Given the description of an element on the screen output the (x, y) to click on. 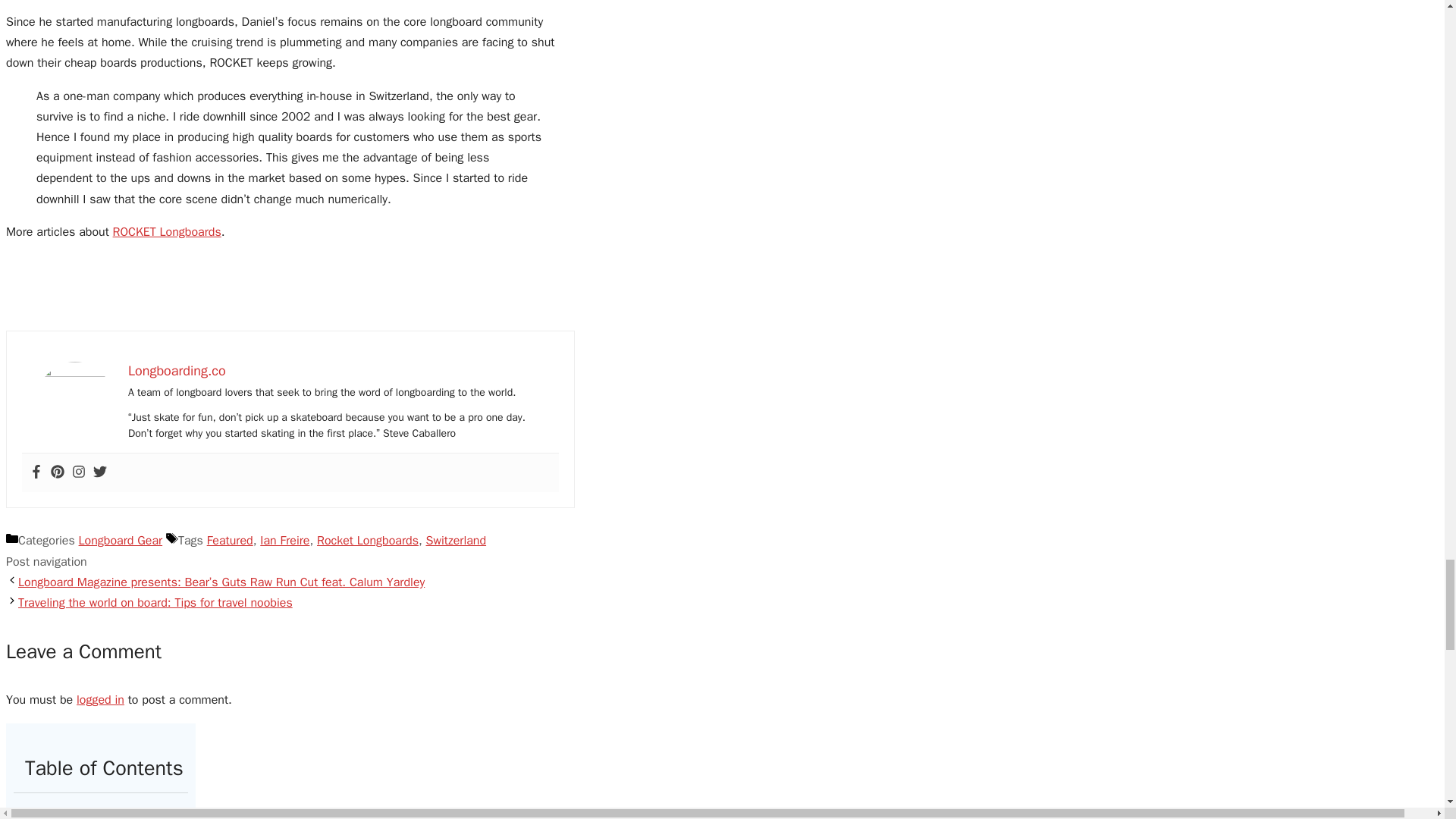
ROCKET Longboards (167, 231)
Previous (221, 581)
Longboarding.co (176, 370)
Next (154, 602)
